Given the description of an element on the screen output the (x, y) to click on. 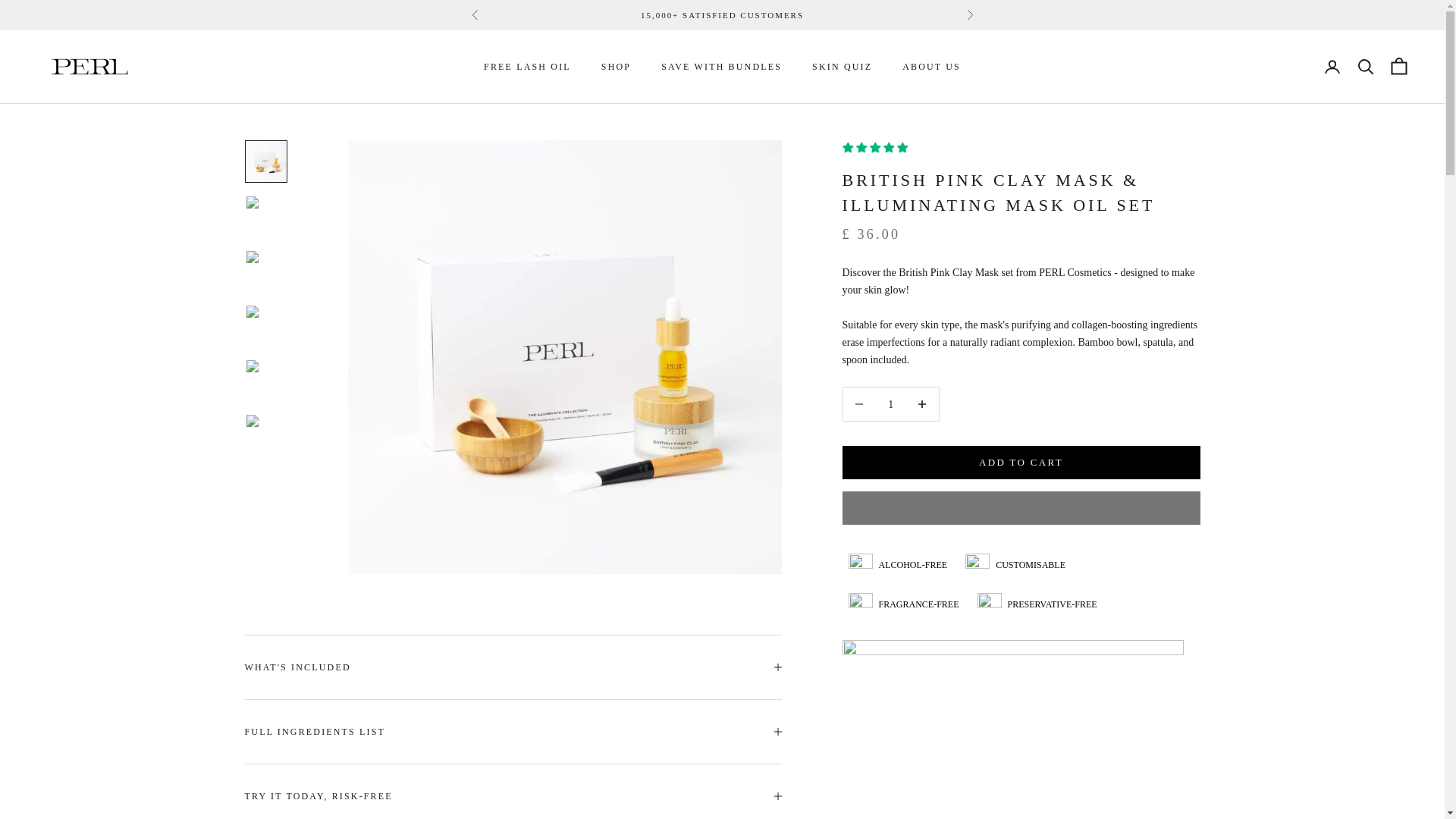
SKIN QUIZ (842, 66)
Open cart (1398, 66)
SAVE WITH BUNDLES (721, 66)
1 (890, 403)
PERL Cosmetics (89, 66)
Open account page (1331, 66)
Open search (1365, 66)
